Given the description of an element on the screen output the (x, y) to click on. 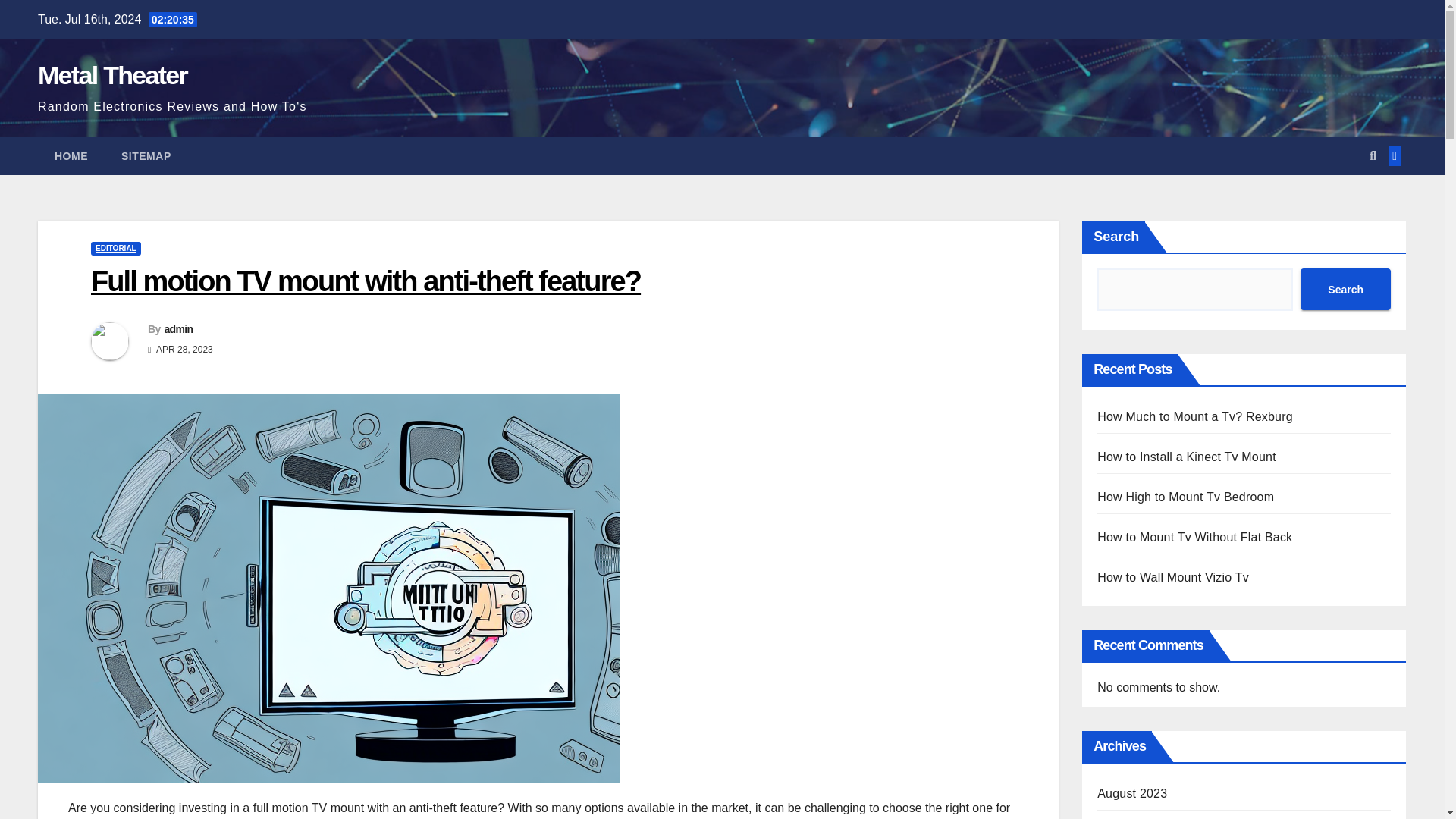
SITEMAP (145, 156)
HOME (70, 156)
Permalink to: Full motion TV mount with anti-theft feature? (365, 281)
EDITORIAL (115, 248)
Home (70, 156)
Metal Theater (112, 74)
admin (177, 328)
Full motion TV mount with anti-theft feature? (365, 281)
